Given the description of an element on the screen output the (x, y) to click on. 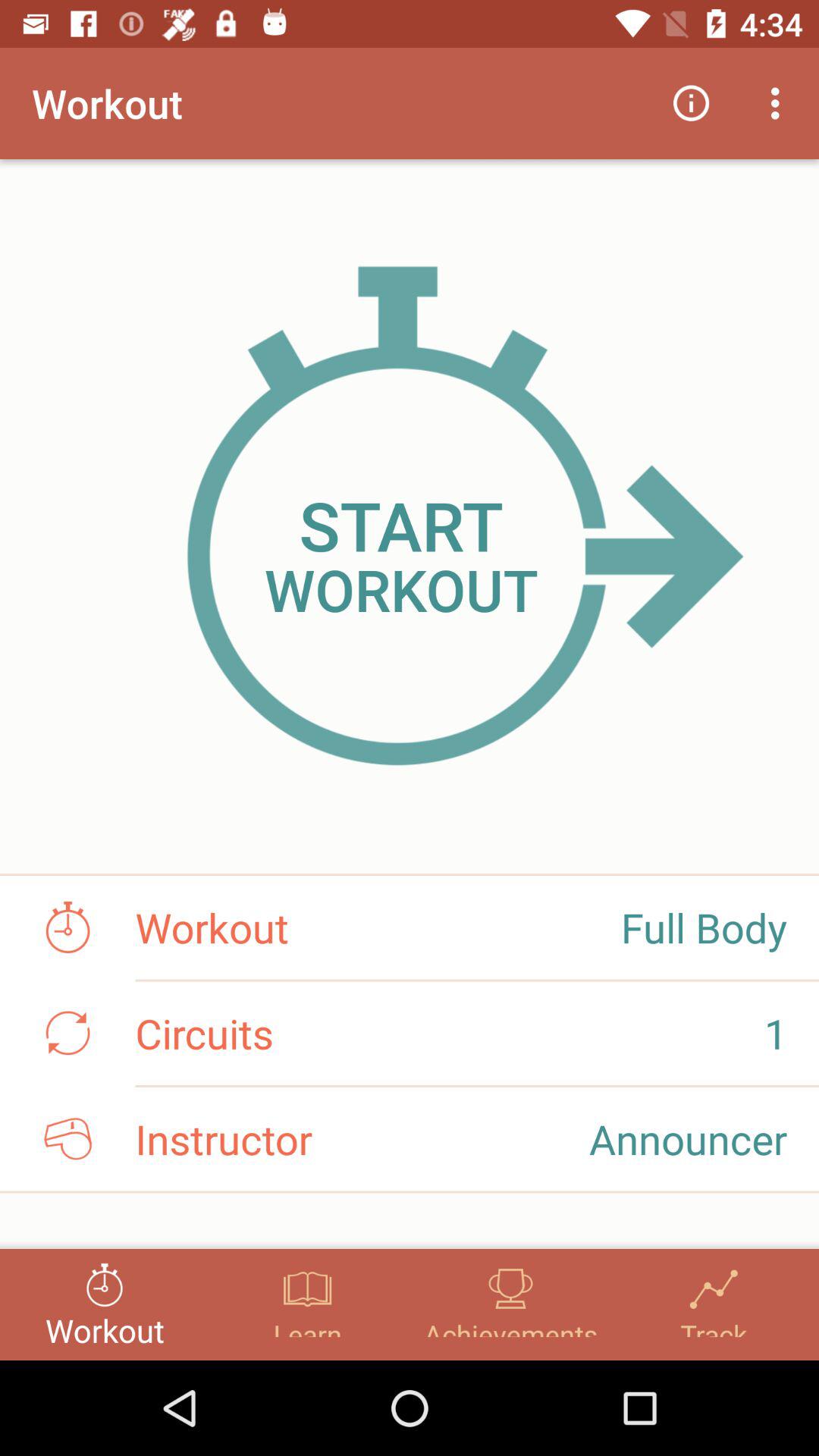
launch the icon next to workout icon (691, 103)
